Given the description of an element on the screen output the (x, y) to click on. 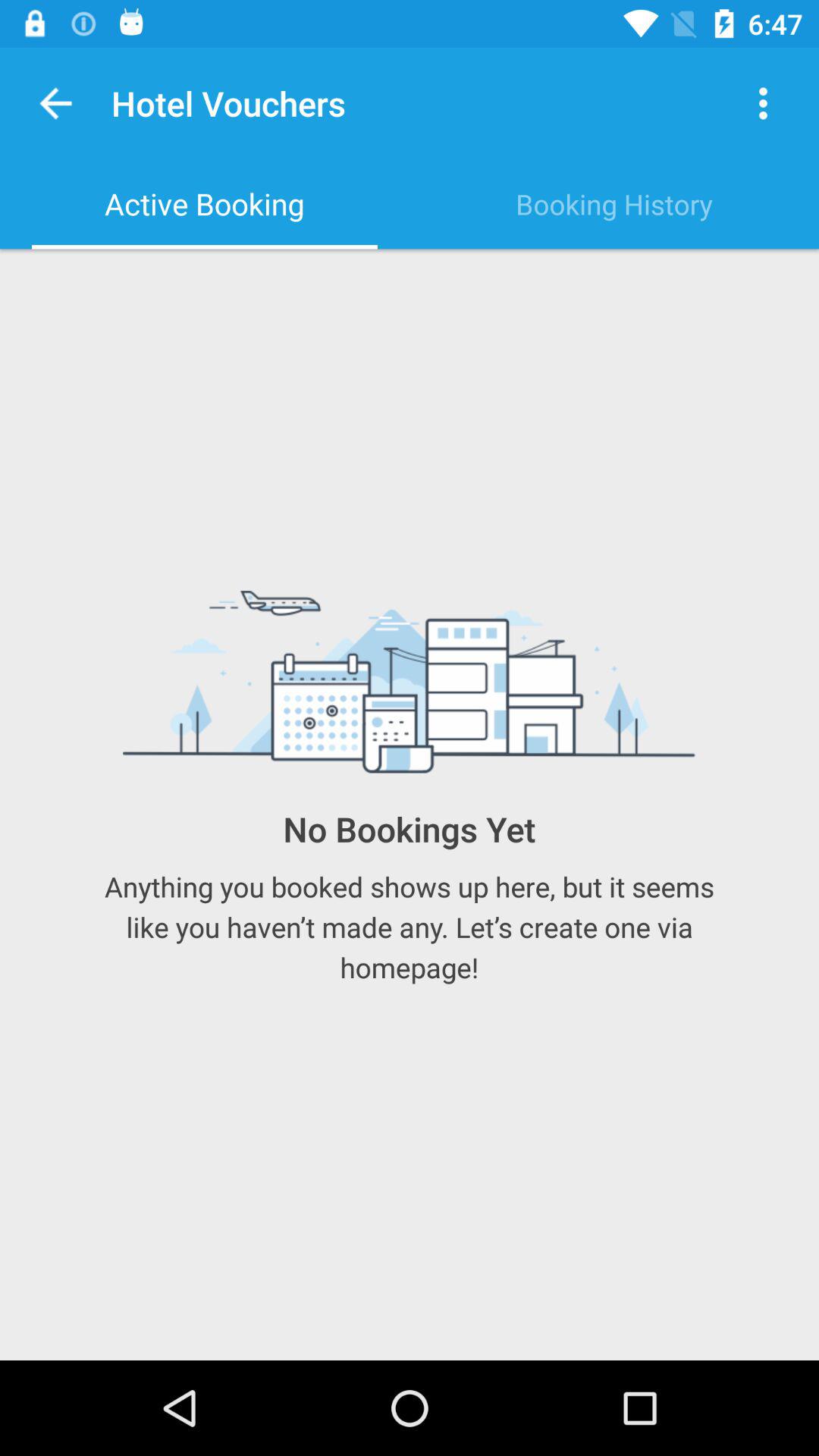
more options (763, 103)
